Given the description of an element on the screen output the (x, y) to click on. 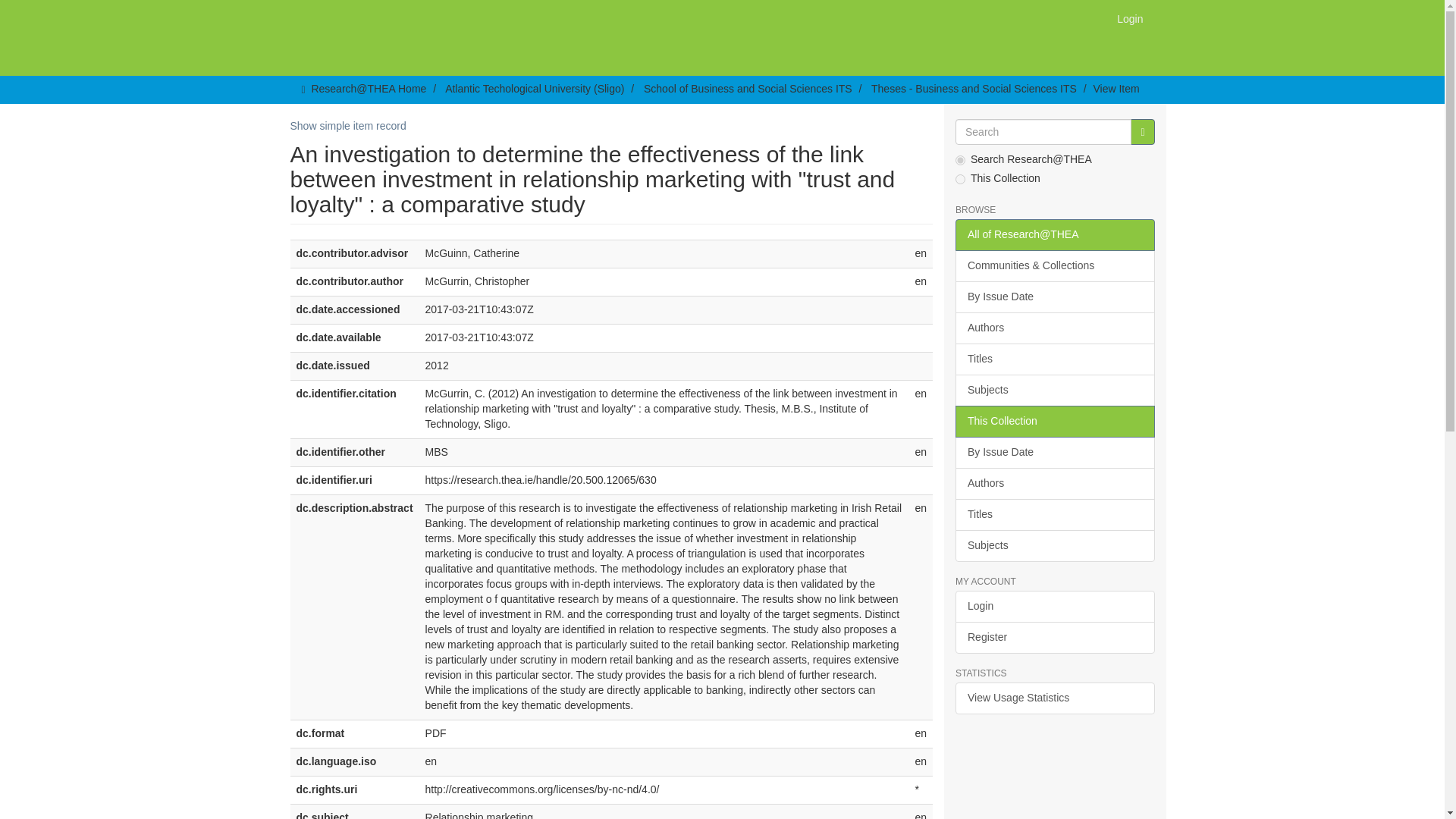
Login (1129, 18)
Go (1142, 131)
Titles (1054, 359)
Theses - Business and Social Sciences ITS (973, 88)
Show simple item record (347, 125)
Authors (1054, 327)
School of Business and Social Sciences ITS (747, 88)
By Issue Date (1054, 296)
Subjects (1054, 390)
